Given the description of an element on the screen output the (x, y) to click on. 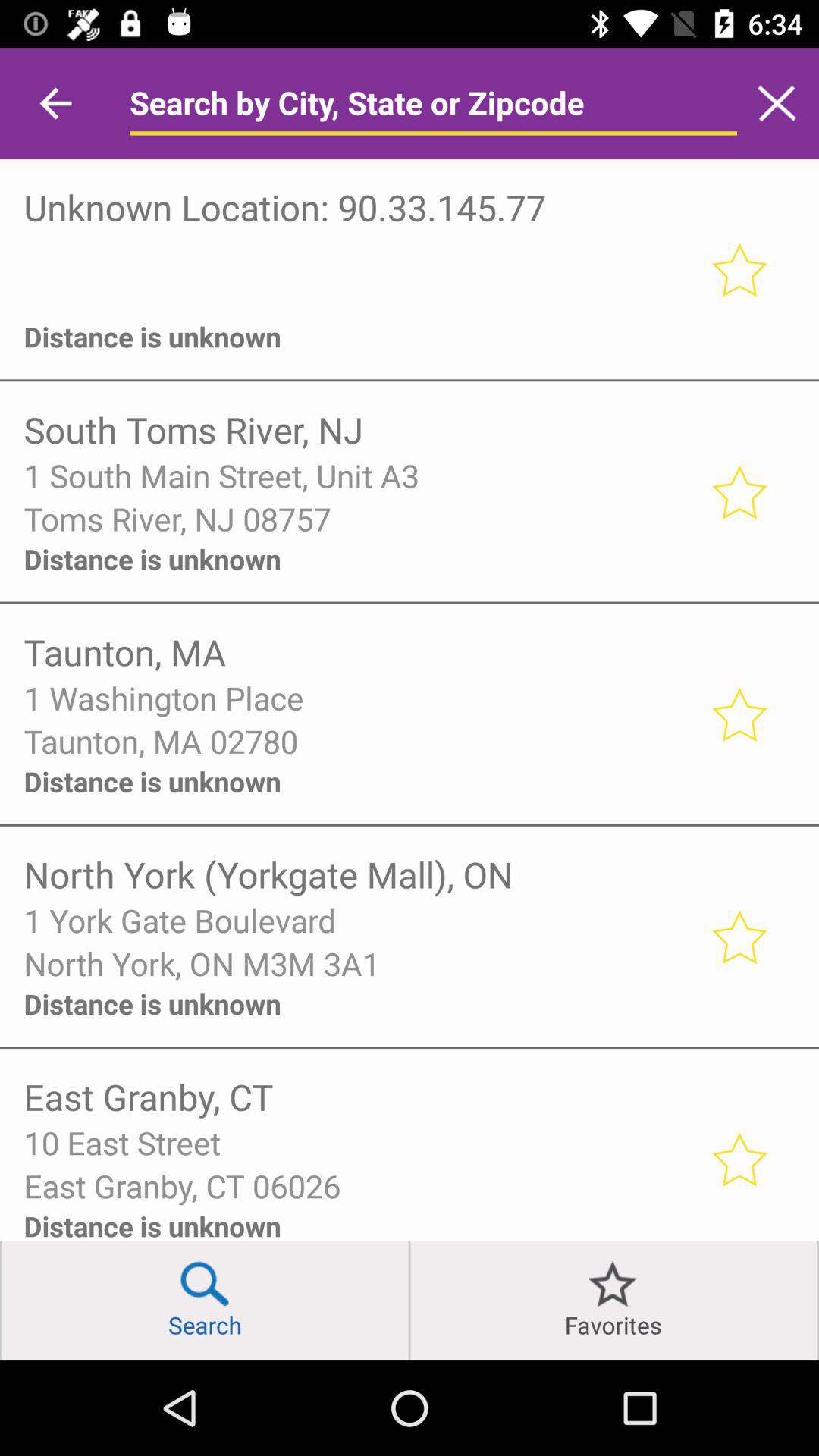
swipe to favorites icon (613, 1300)
